Given the description of an element on the screen output the (x, y) to click on. 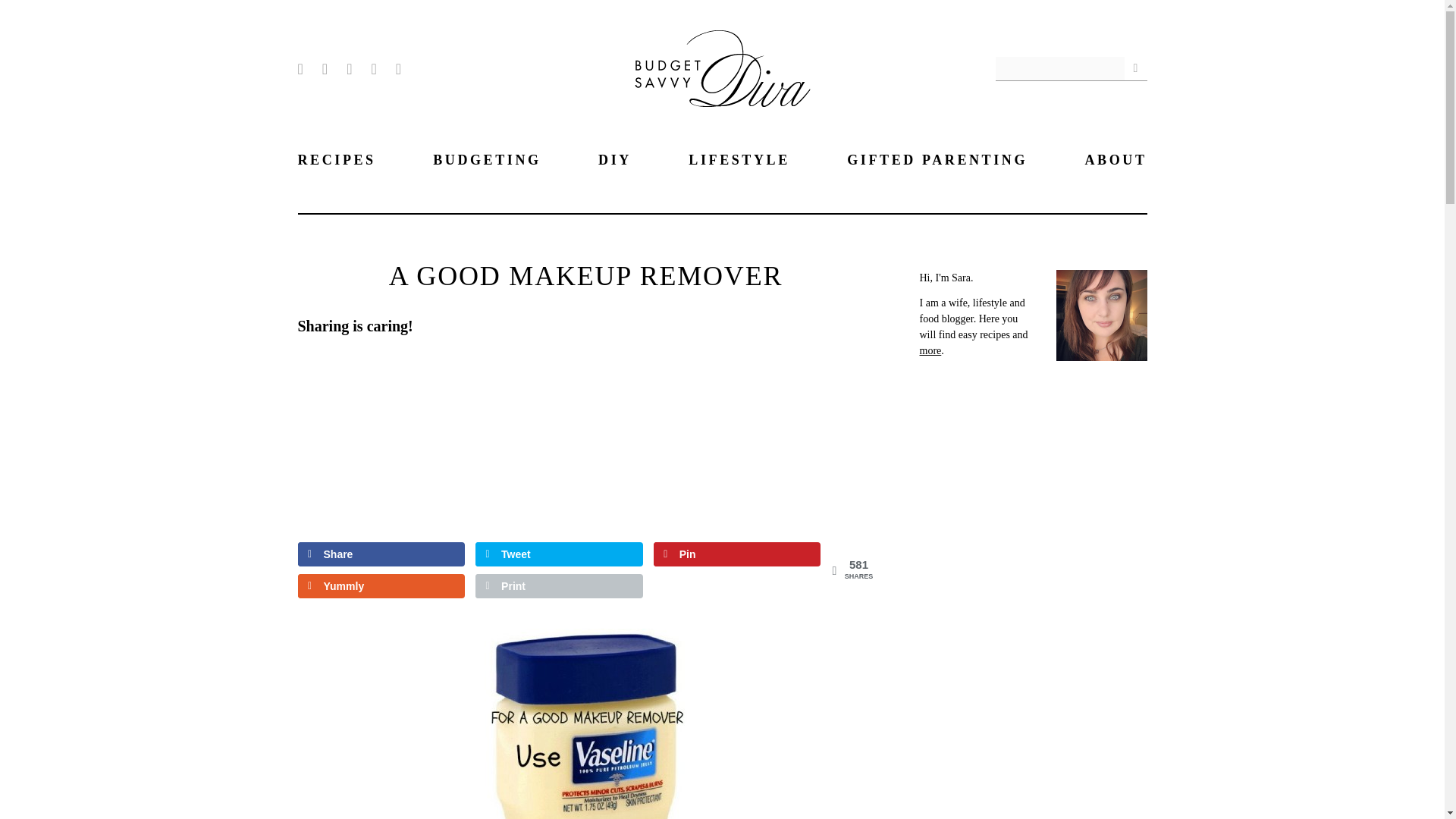
RECIPES (336, 159)
Search (1135, 67)
BUDGETING (486, 159)
LIFESTYLE (738, 159)
GIFTED PARENTING (937, 159)
ABOUT (1115, 159)
